Given the description of an element on the screen output the (x, y) to click on. 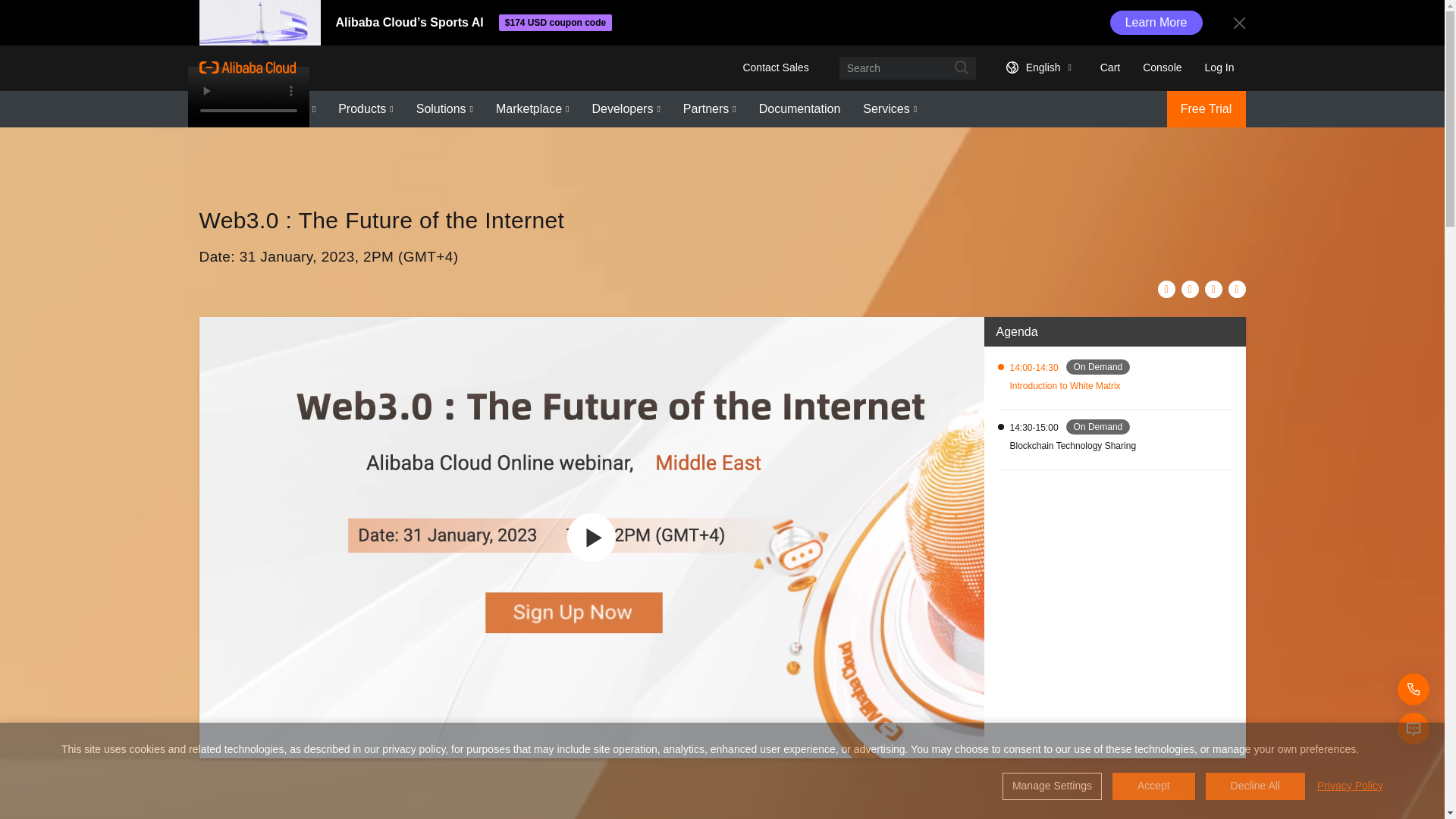
English (1035, 67)
Alibaba Cloud (246, 67)
Contact Sales (774, 67)
